Given the description of an element on the screen output the (x, y) to click on. 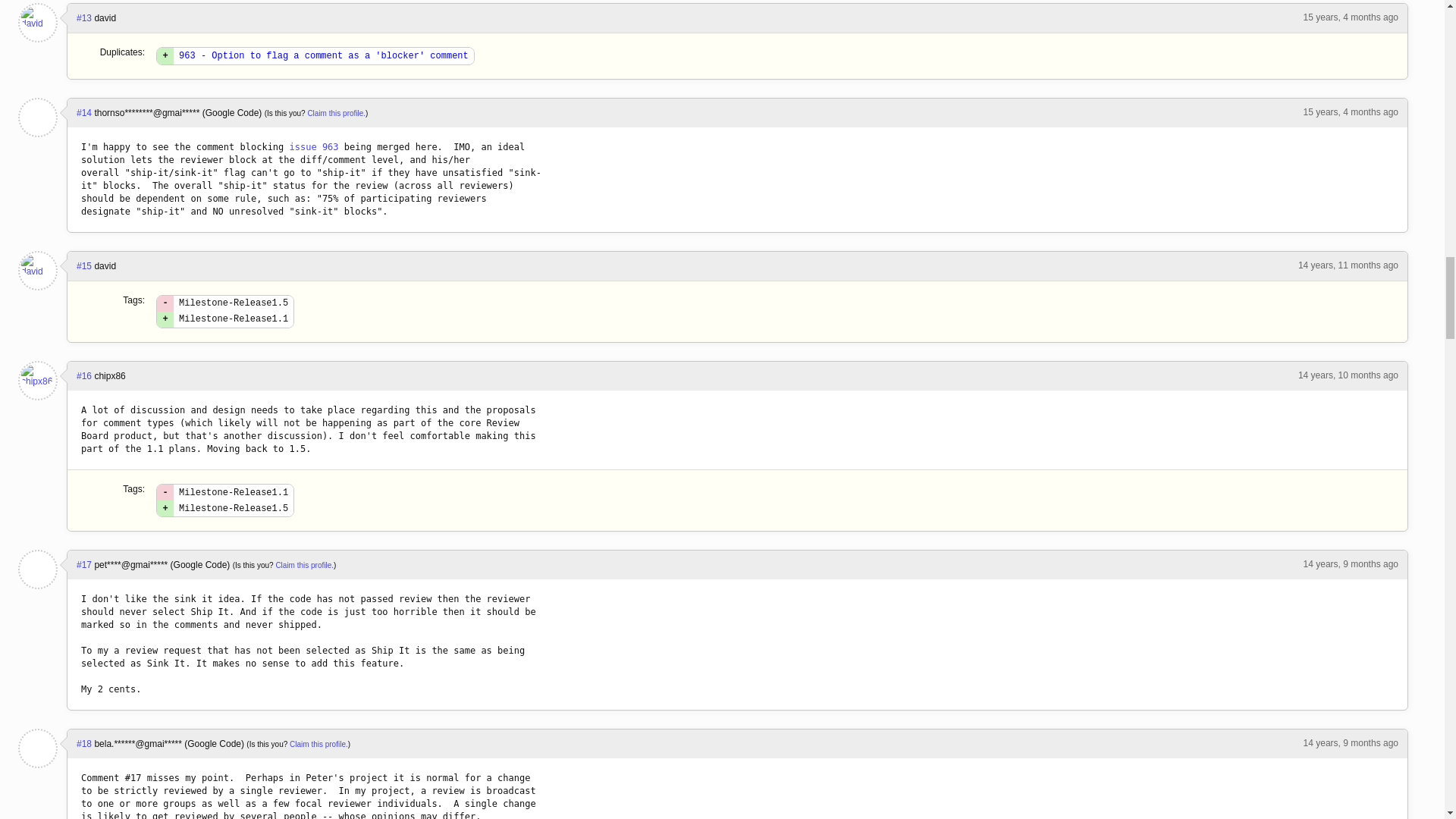
Aug. 28, 2009, 8:59 p.m. (1347, 265)
March 24, 2009, 9:05 a.m. (1350, 17)
April 17, 2009, 12:40 p.m. (1350, 112)
Oct. 18, 2009, 8:28 a.m. (1347, 375)
